Given the description of an element on the screen output the (x, y) to click on. 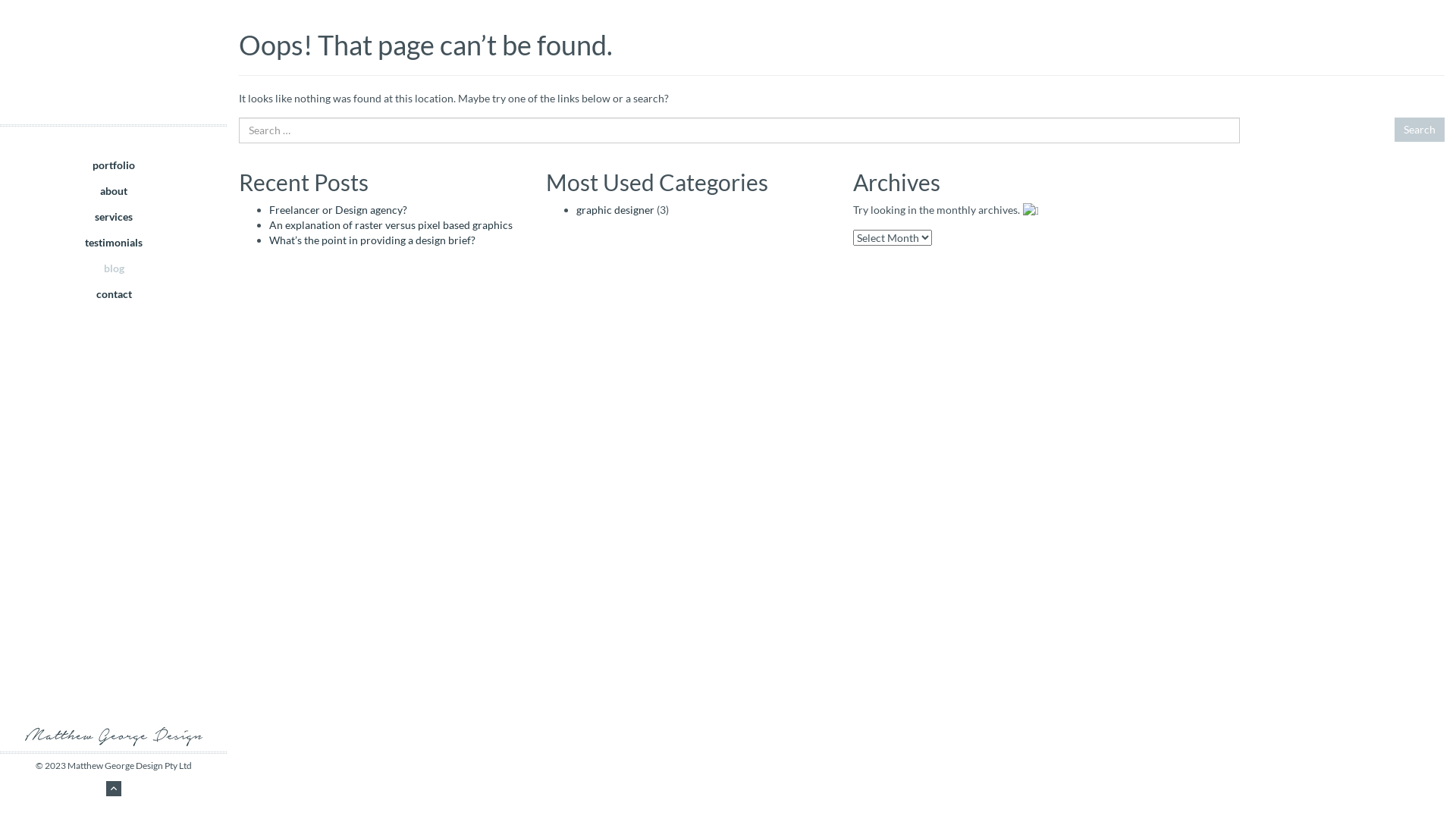
graphic designer Element type: text (615, 209)
contact Element type: text (113, 299)
Freelancer or Design agency? Element type: text (338, 209)
An explanation of raster versus pixel based graphics Element type: text (390, 224)
blog Element type: text (113, 273)
testimonials Element type: text (113, 247)
portfolio Element type: text (113, 170)
about Element type: text (113, 196)
MGD Element type: text (113, 62)
services Element type: text (113, 222)
Search Element type: text (1419, 129)
